Given the description of an element on the screen output the (x, y) to click on. 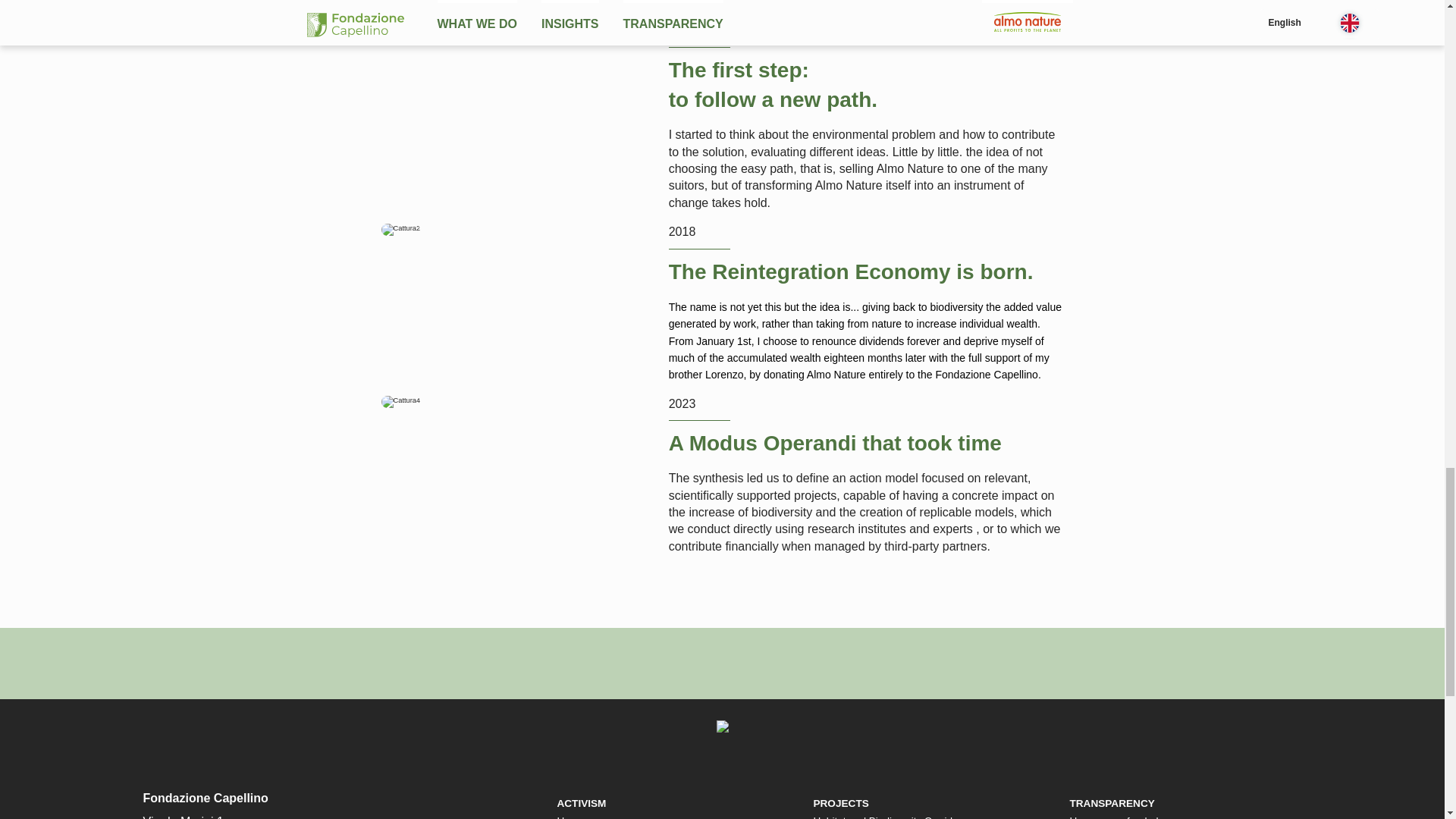
Habitat and Biodiversity Corridors (889, 816)
How we are funded (1112, 816)
Home page (583, 816)
